Given the description of an element on the screen output the (x, y) to click on. 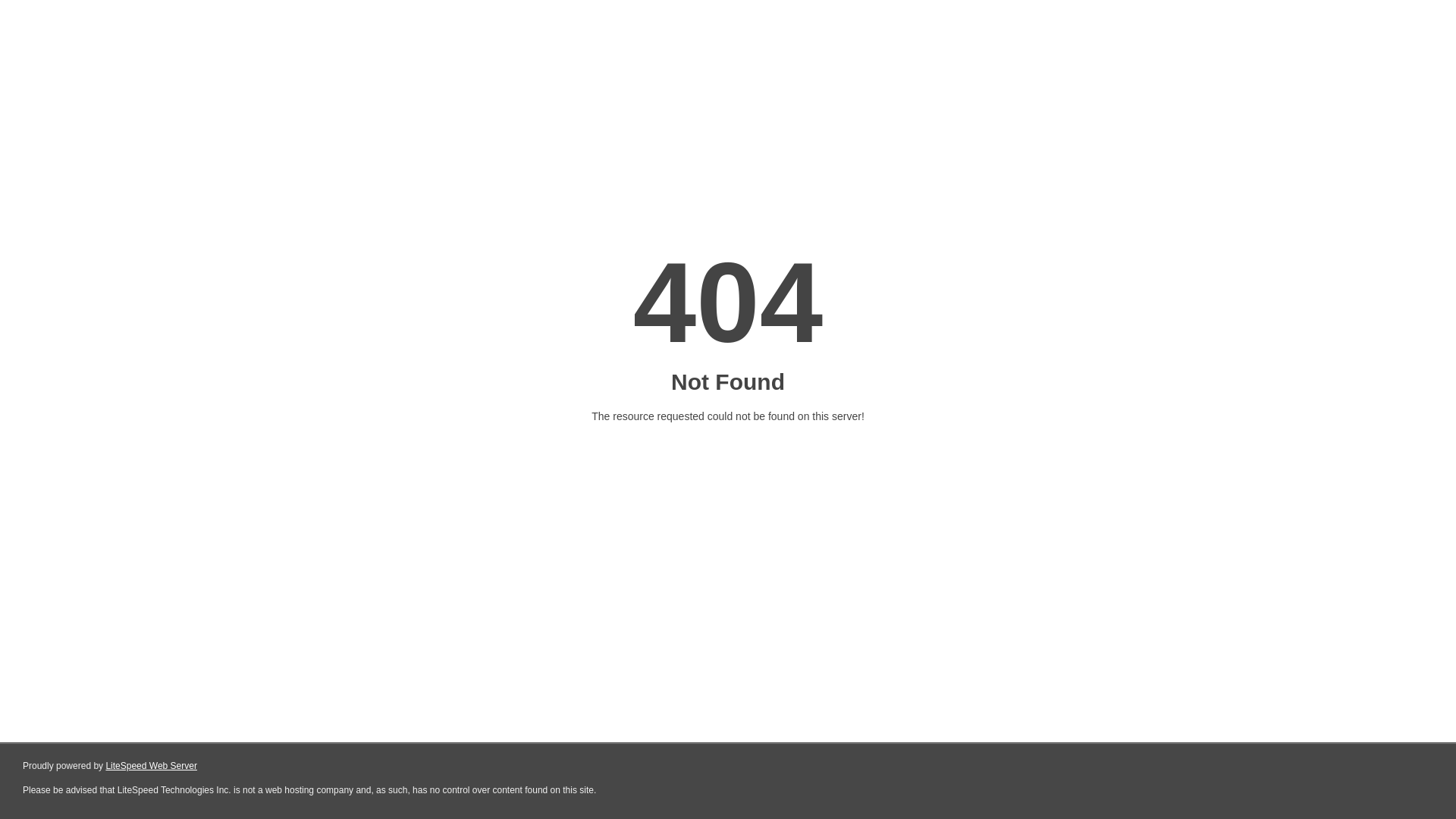
LiteSpeed Web Server Element type: text (151, 765)
